Given the description of an element on the screen output the (x, y) to click on. 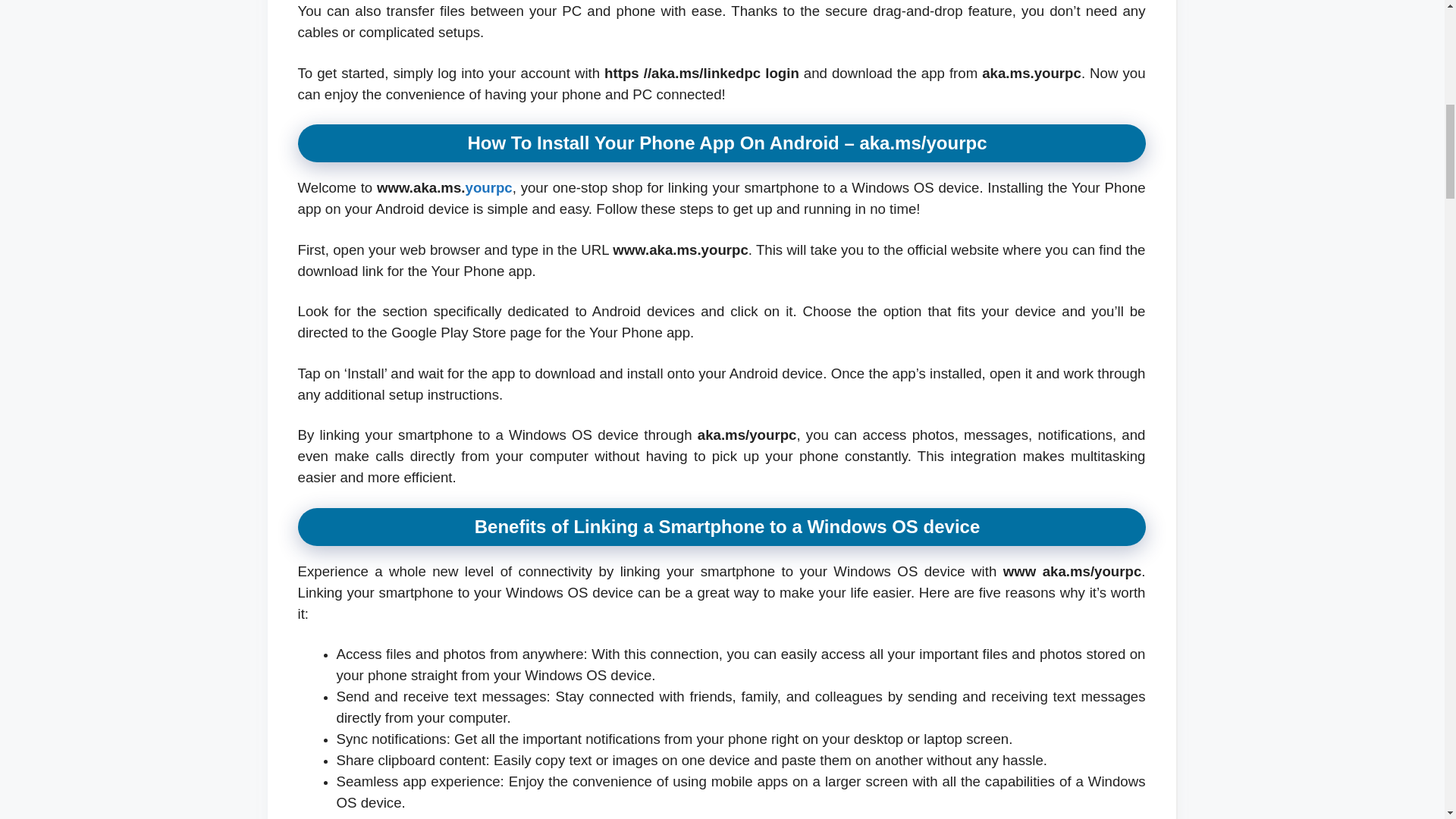
yourpc (488, 187)
Scroll back to top (1406, 720)
yourpc (488, 187)
